Given the description of an element on the screen output the (x, y) to click on. 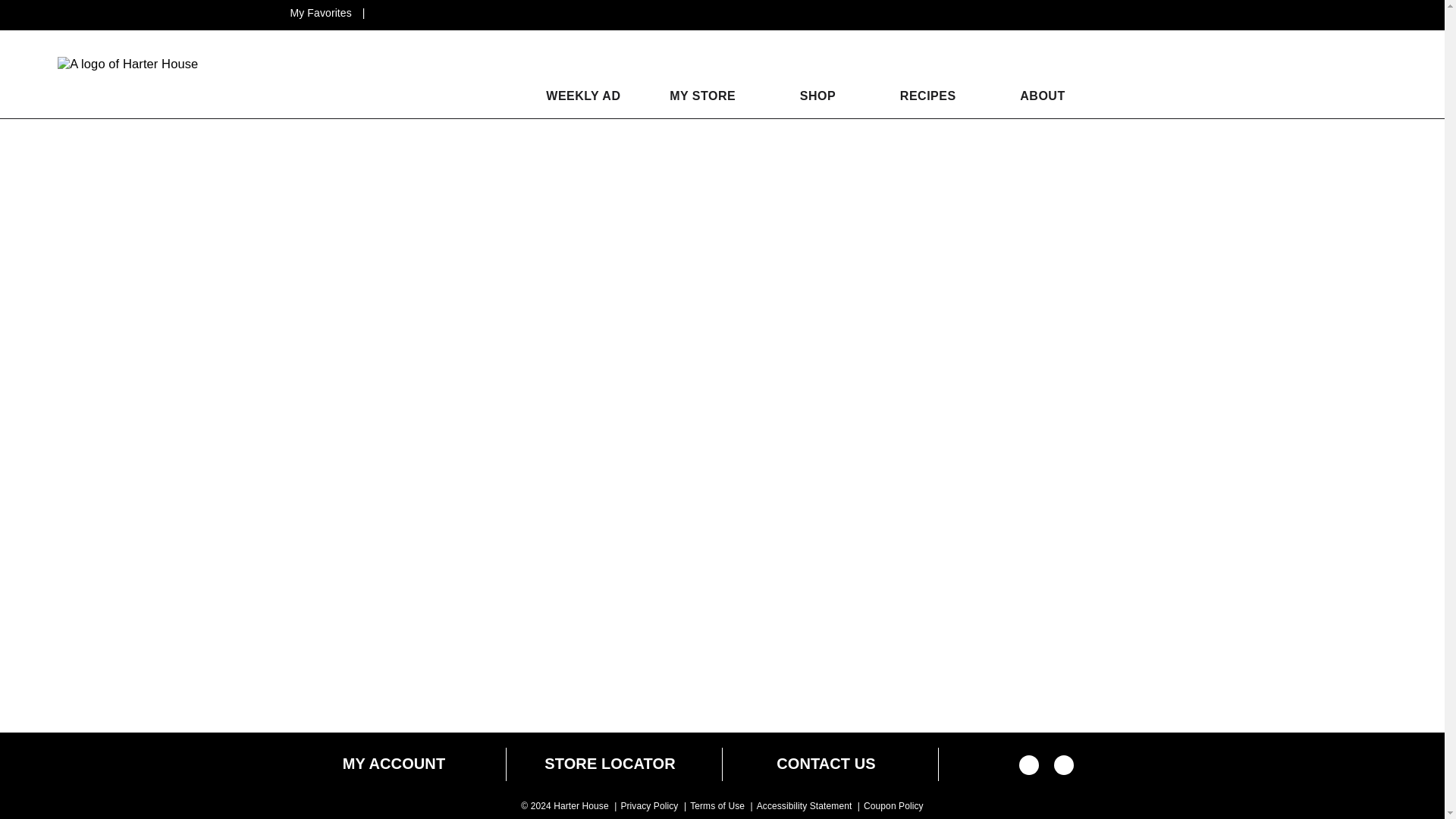
My Favorites  (321, 12)
Harter House (128, 63)
twitter (1064, 770)
Coupon Policy (893, 805)
STORE LOCATOR (609, 764)
Accessibility Statement (804, 805)
Terms of Use (717, 805)
Privacy Policy (649, 805)
MY ACCOUNT (393, 764)
MY STORE (702, 95)
